Given the description of an element on the screen output the (x, y) to click on. 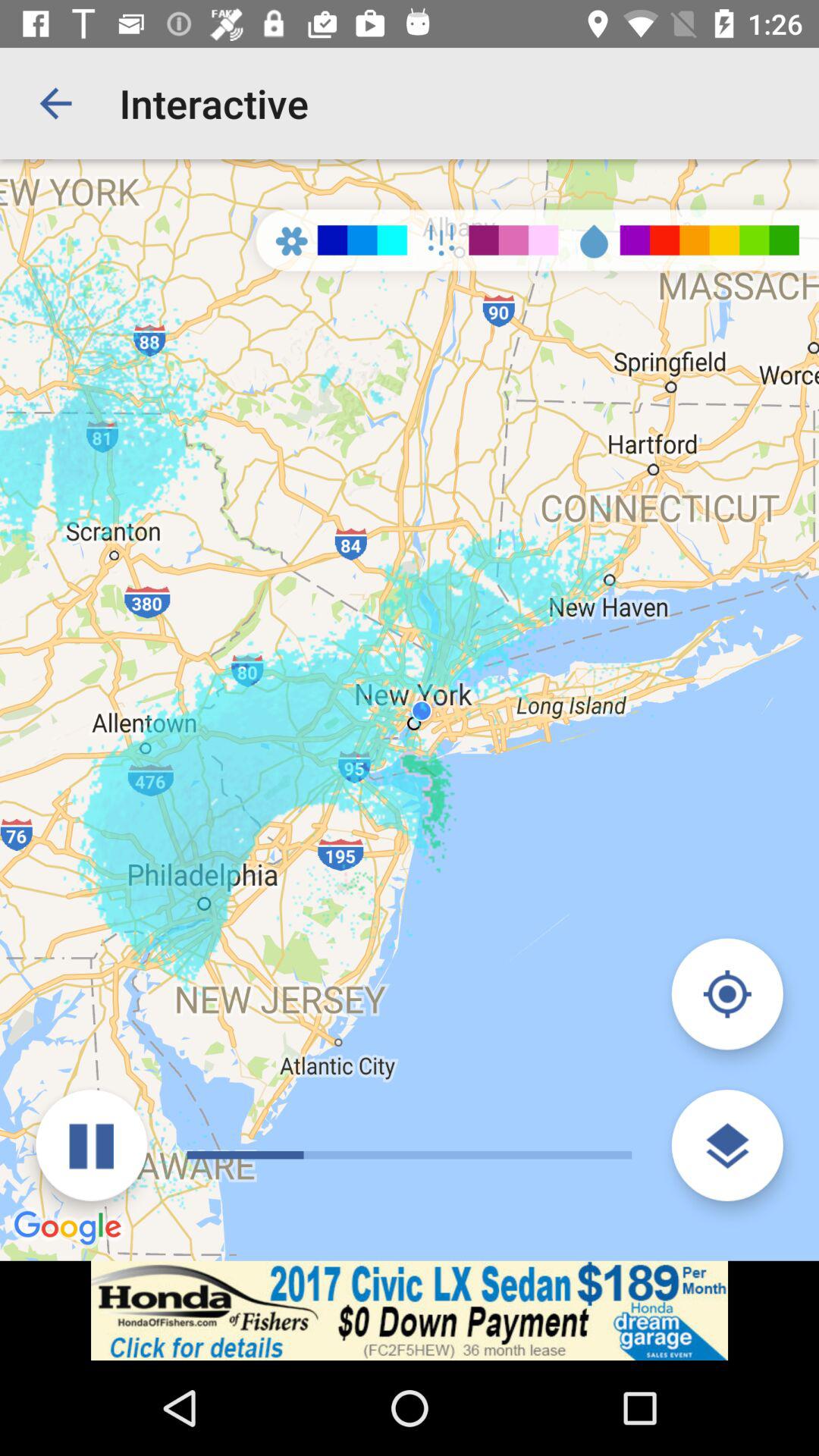
advertisement area (409, 1310)
